Given the description of an element on the screen output the (x, y) to click on. 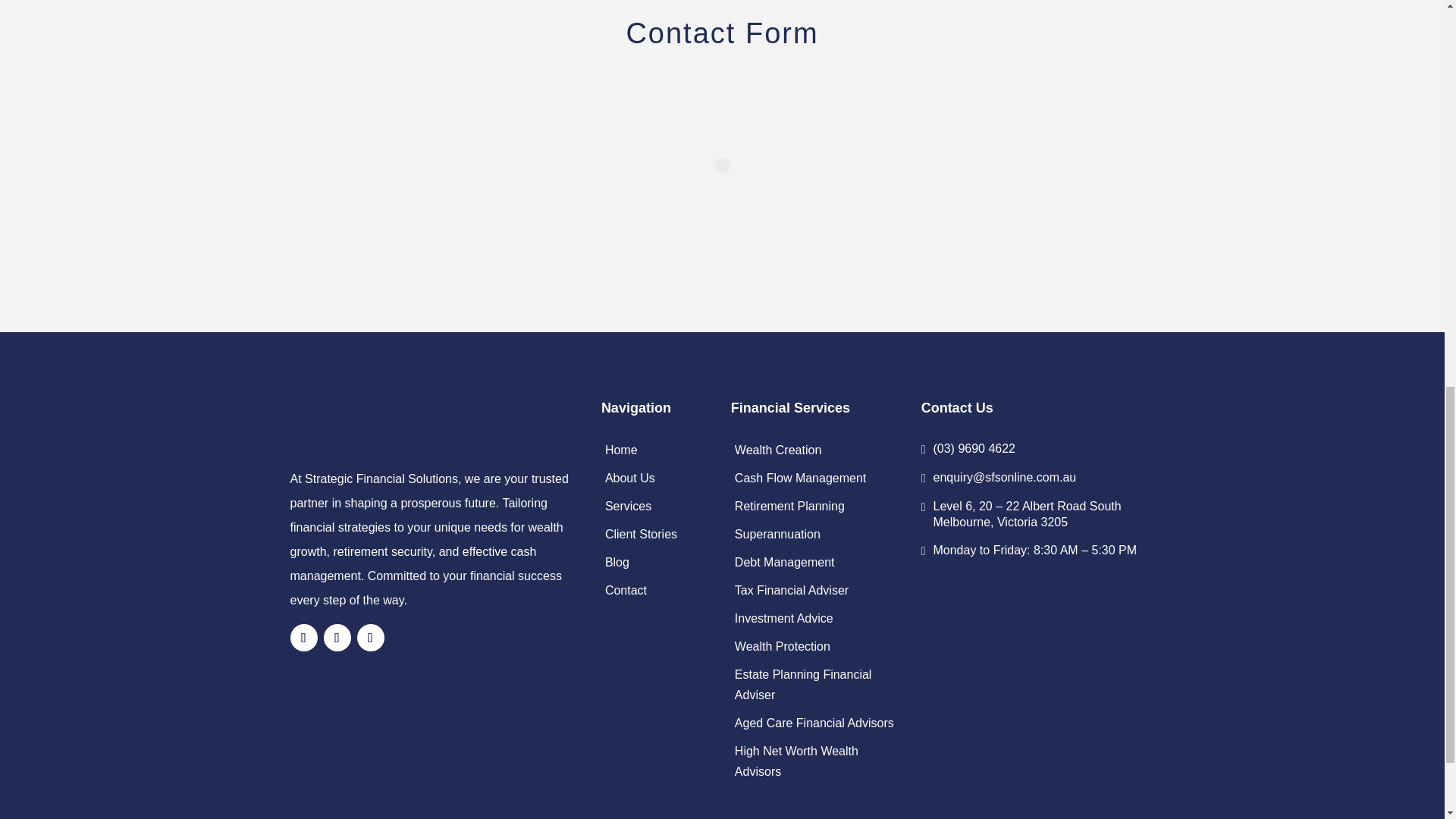
Retirement Planning (789, 505)
Blog (616, 562)
Contact (625, 590)
About Us (630, 477)
Follow on Facebook (303, 637)
Home (621, 449)
Wealth Creation (778, 449)
Superannuation (778, 533)
Follow on Instagram (336, 637)
Debt Management (784, 562)
